Given the description of an element on the screen output the (x, y) to click on. 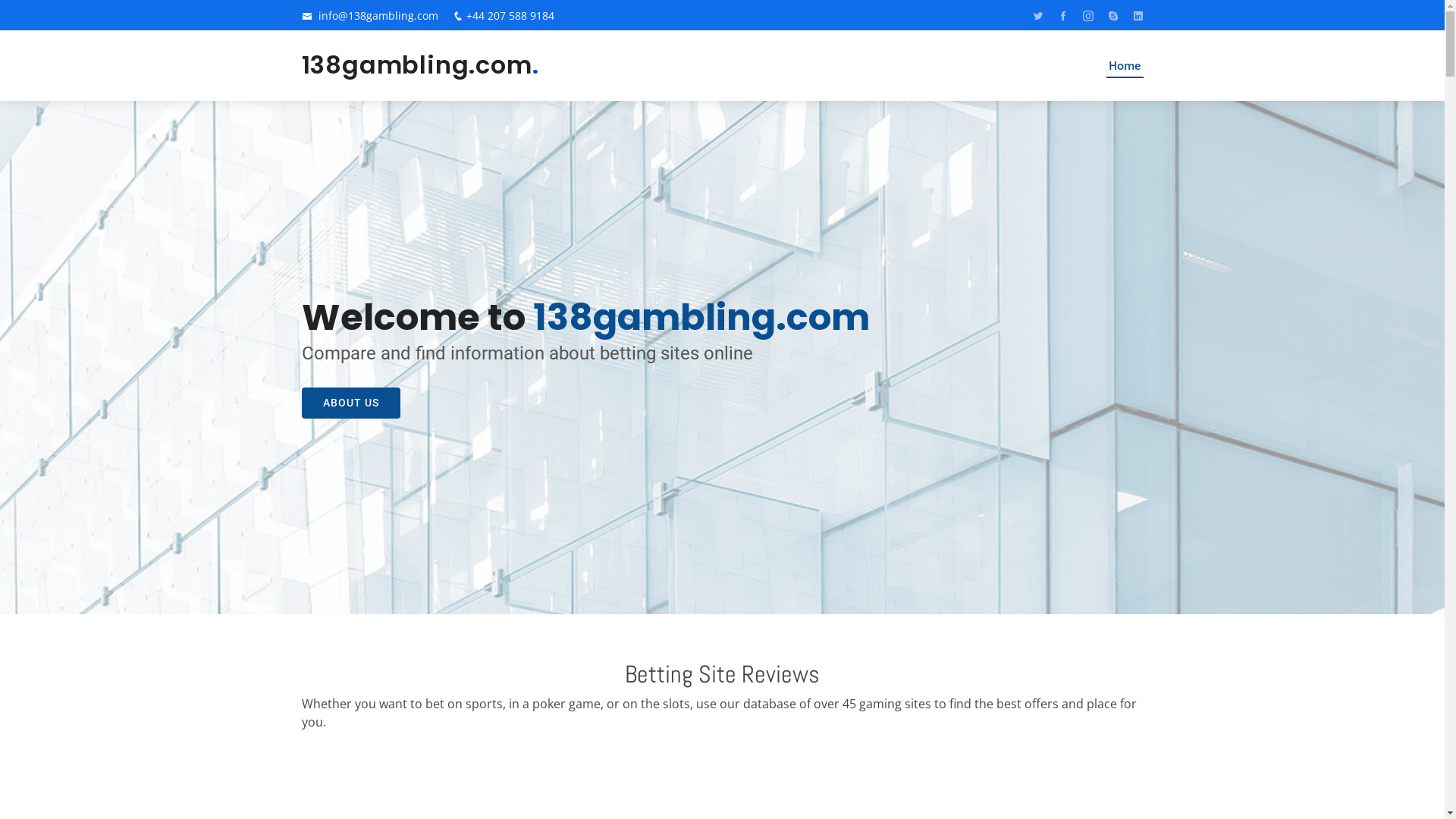
info@138gambling.com Element type: text (378, 14)
Home Element type: text (1123, 65)
ABOUT US Element type: text (350, 401)
138gambling.com. Element type: text (420, 64)
